Given the description of an element on the screen output the (x, y) to click on. 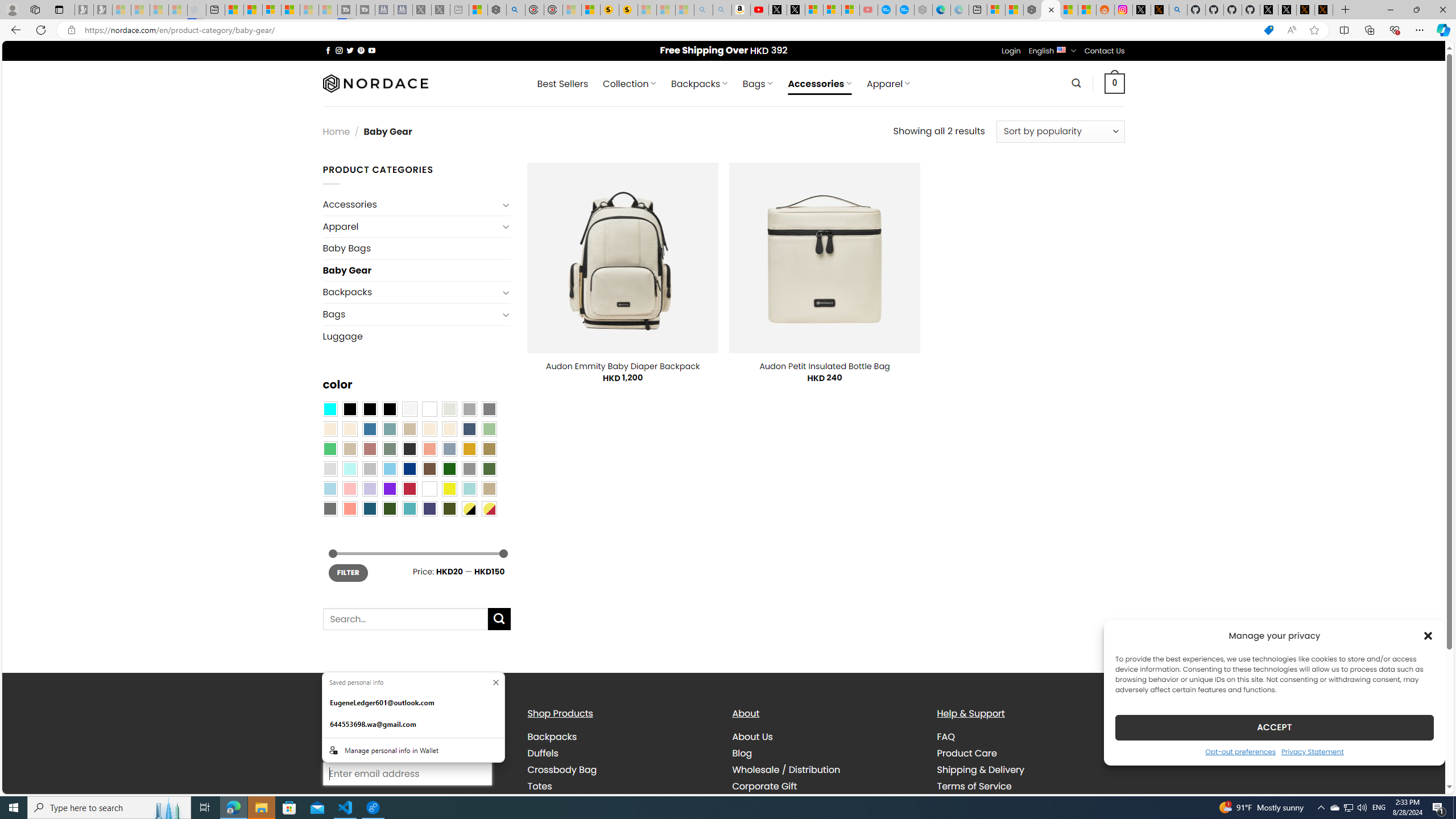
EugeneLedger601@outlook.com. :Basic info suggestion. (413, 703)
Opt-out preferences (1240, 750)
X Privacy Policy (1324, 9)
Cream (449, 428)
Totes (620, 785)
Shipping & Delivery (980, 770)
